Given the description of an element on the screen output the (x, y) to click on. 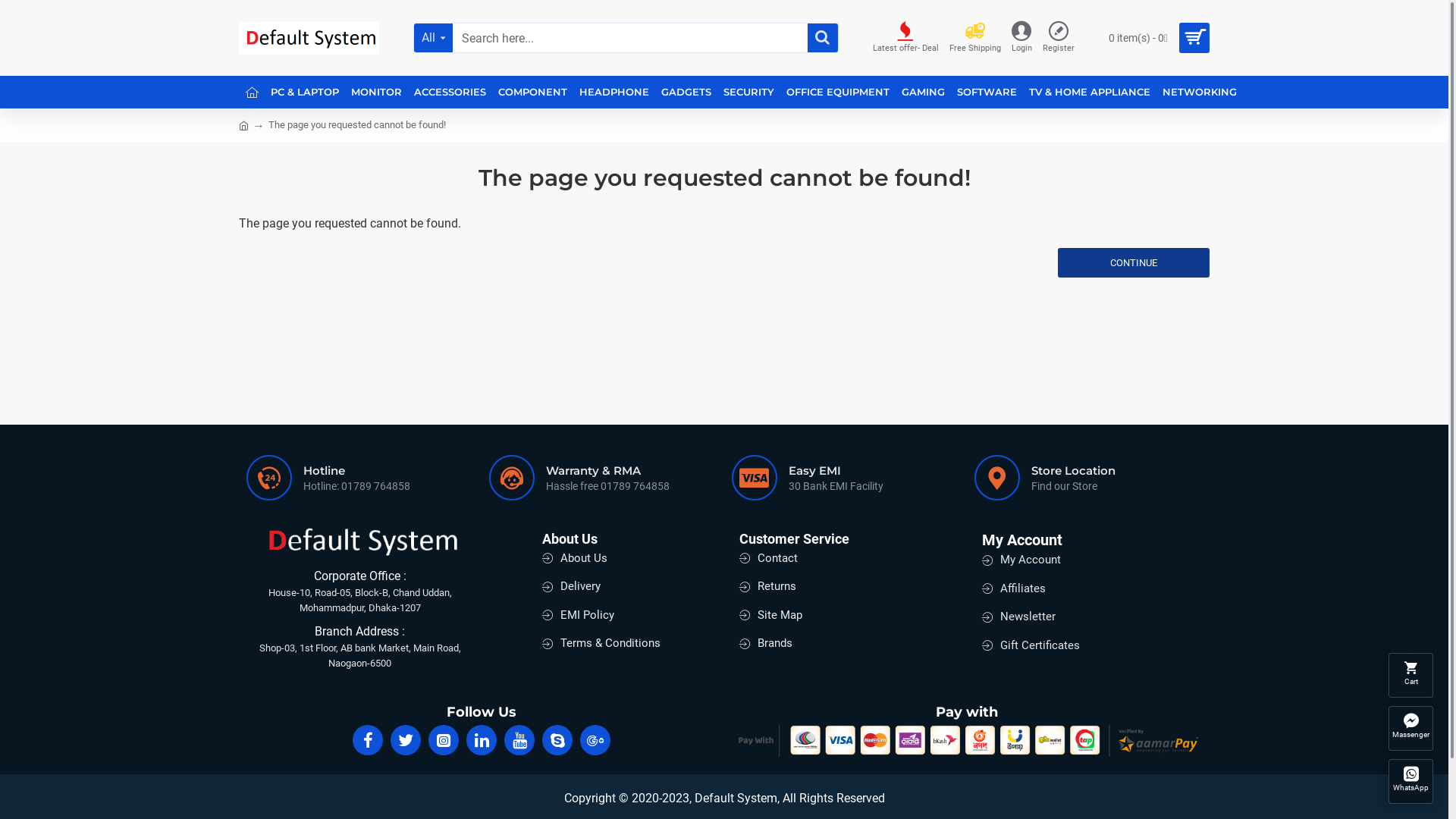
NETWORKING Element type: text (1199, 91)
My Account Element type: text (1021, 563)
COMPONENT Element type: text (532, 91)
Easy EMI
30 Bank EMI Facility Element type: text (845, 477)
HEADPHONE Element type: text (614, 91)
EMI Policy Element type: text (578, 618)
Delivery Element type: text (571, 589)
Massenger Element type: text (1410, 725)
SECURITY Element type: text (748, 91)
PC & LAPTOP Element type: text (304, 91)
Contact Element type: text (768, 561)
Default System BD Element type: hover (308, 37)
WhatsApp Element type: text (1410, 778)
GADGETS Element type: text (686, 91)
TV & HOME APPLIANCE Element type: text (1089, 91)
Gift Certificates Element type: text (1030, 648)
The page you requested cannot be found! Element type: text (356, 124)
Brands Element type: text (765, 646)
OFFICE EQUIPMENT Element type: text (837, 91)
CONTINUE Element type: text (1133, 262)
Affiliates Element type: text (1013, 591)
MONITOR Element type: text (376, 91)
Site Map Element type: text (770, 618)
SOFTWARE Element type: text (986, 91)
Store Location
Find our Store Element type: text (1087, 477)
GAMING Element type: text (922, 91)
Login Element type: text (1021, 38)
Cart Element type: text (1410, 672)
Register Element type: text (1058, 38)
Latest offer- Deal Element type: text (905, 38)
ACCESSORIES Element type: text (449, 91)
Returns Element type: text (767, 589)
Free Shipping Element type: text (974, 38)
About Us Element type: text (574, 561)
Newsletter Element type: text (1018, 619)
Terms & Conditions Element type: text (601, 646)
